Given the description of an element on the screen output the (x, y) to click on. 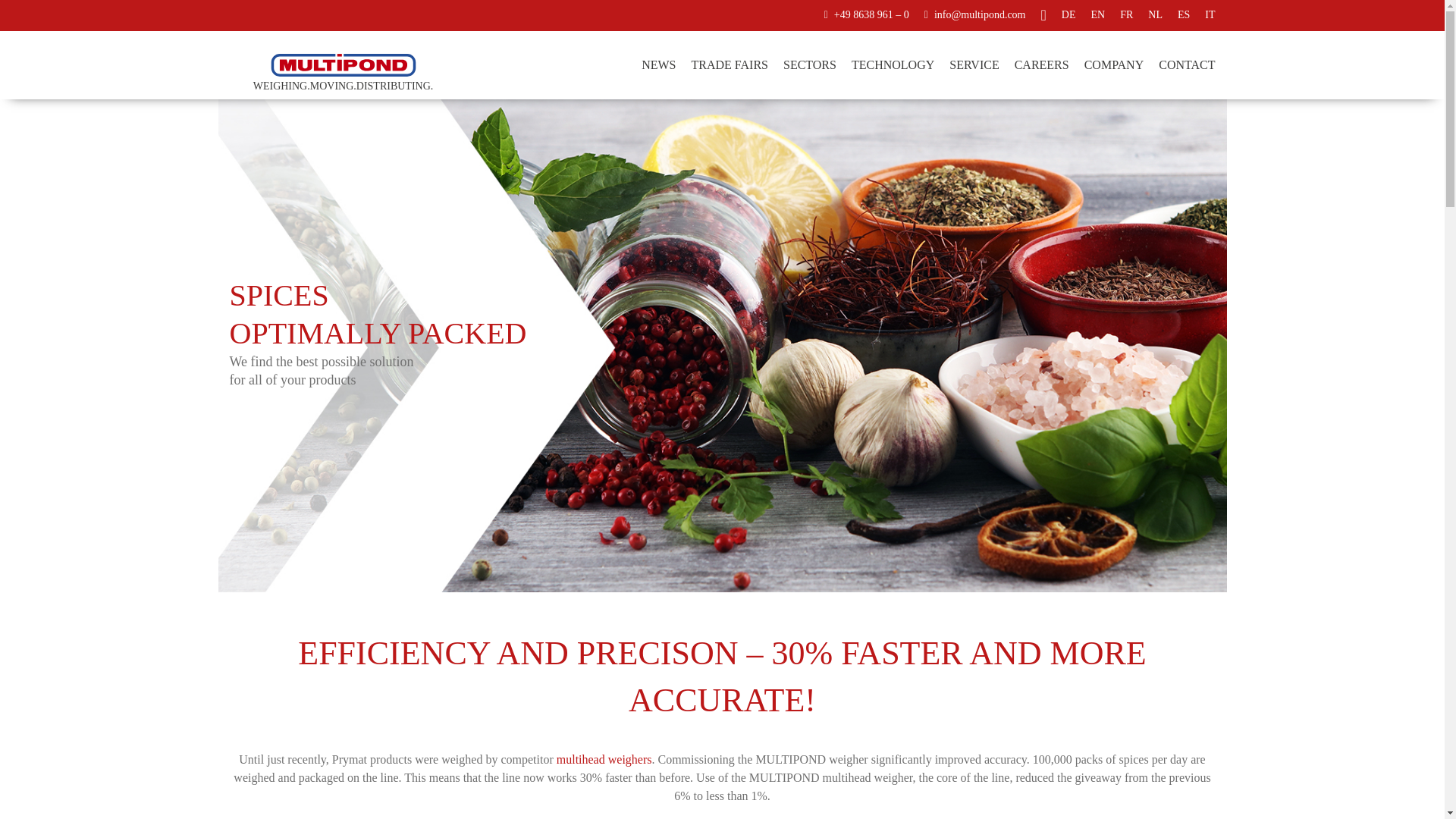
TECHNOLOGY (893, 65)
CAREERS (1042, 65)
WEIGHING. (281, 86)
TRADE FAIRS (729, 65)
Open Cookie Preferences (32, 798)
MOVING. (333, 86)
SERVICE (974, 65)
SECTORS (810, 65)
DISTRIBUTING. (394, 86)
